Given the description of an element on the screen output the (x, y) to click on. 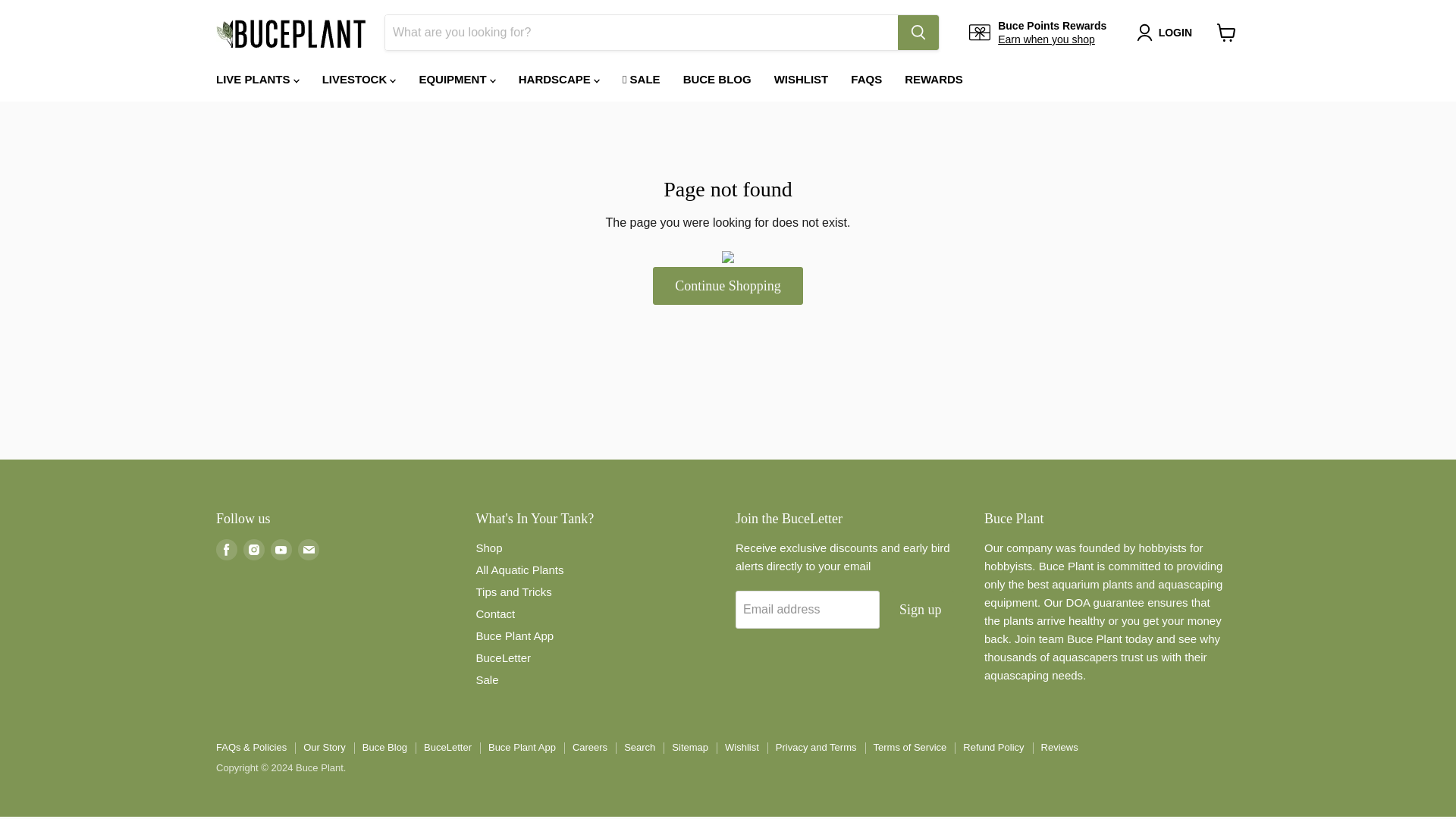
Earn when you shop (1045, 39)
Email (308, 549)
Instagram (253, 549)
View cart (1226, 32)
BuceRewards (1045, 39)
Facebook (226, 549)
LOGIN (1175, 32)
Youtube (281, 549)
